Given the description of an element on the screen output the (x, y) to click on. 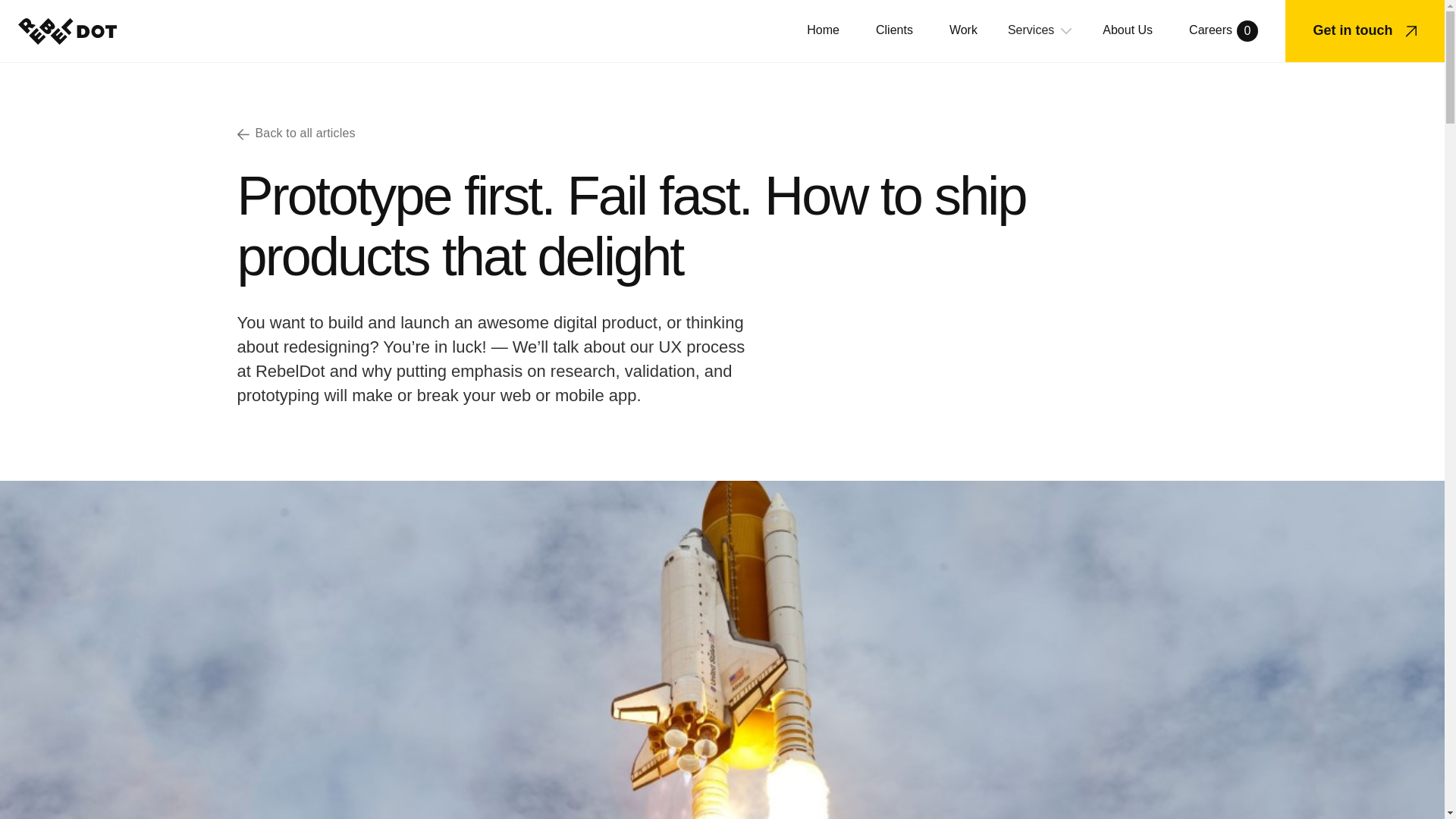
About Us (1127, 30)
Back to all articles (721, 133)
Home (1223, 31)
Clients (823, 30)
Work (894, 30)
